Given the description of an element on the screen output the (x, y) to click on. 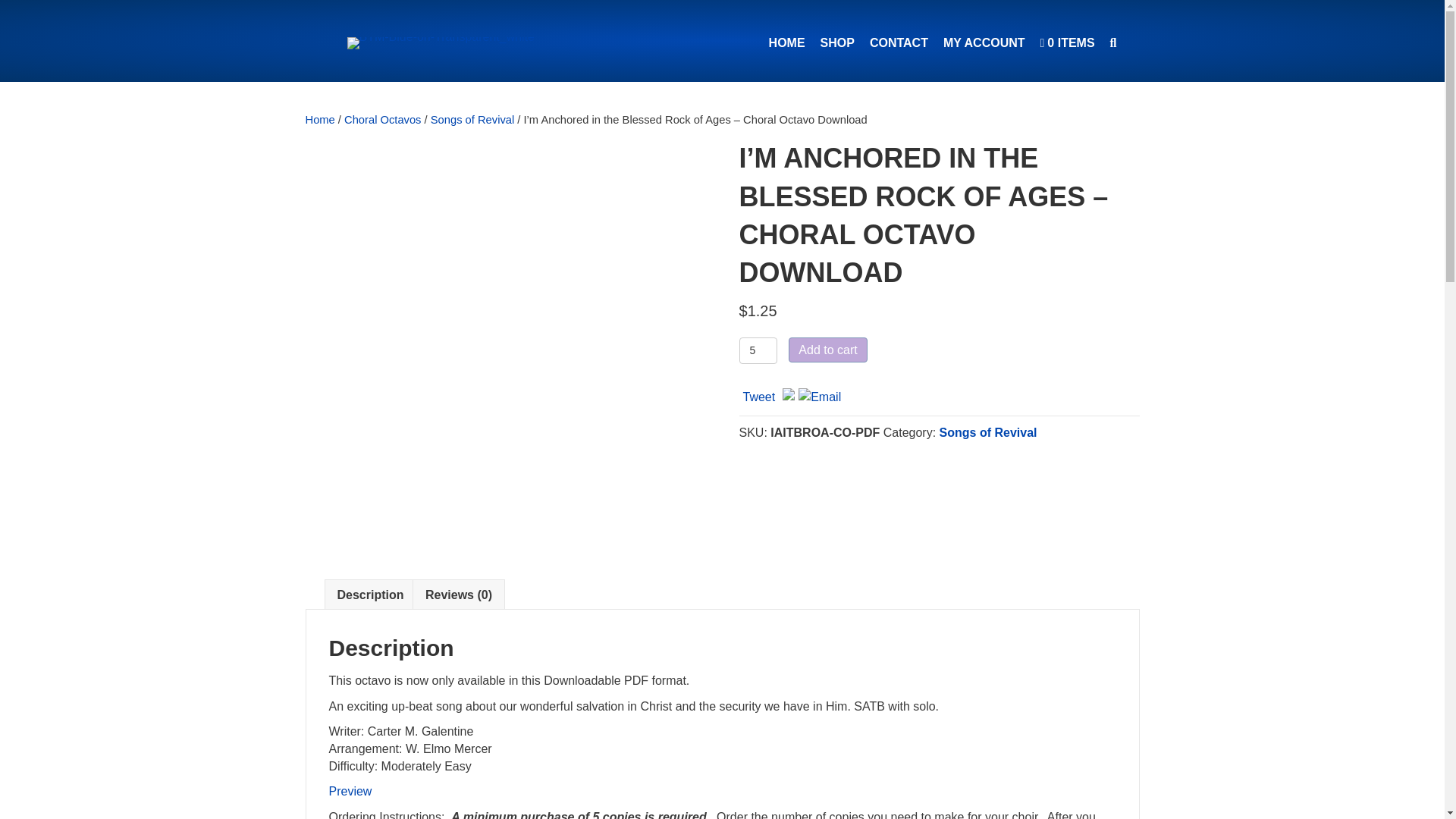
Home (319, 119)
SHOP (836, 42)
Preview (350, 790)
Songs of Revival (987, 431)
Tweet (759, 396)
Choral Octavos (381, 119)
5 (757, 350)
0 ITEMS (1067, 42)
HOME (786, 42)
Songs of Revival (471, 119)
Description (369, 594)
CONTACT (898, 42)
Add to cart (827, 349)
Start shopping (1067, 42)
MY ACCOUNT (984, 42)
